Given the description of an element on the screen output the (x, y) to click on. 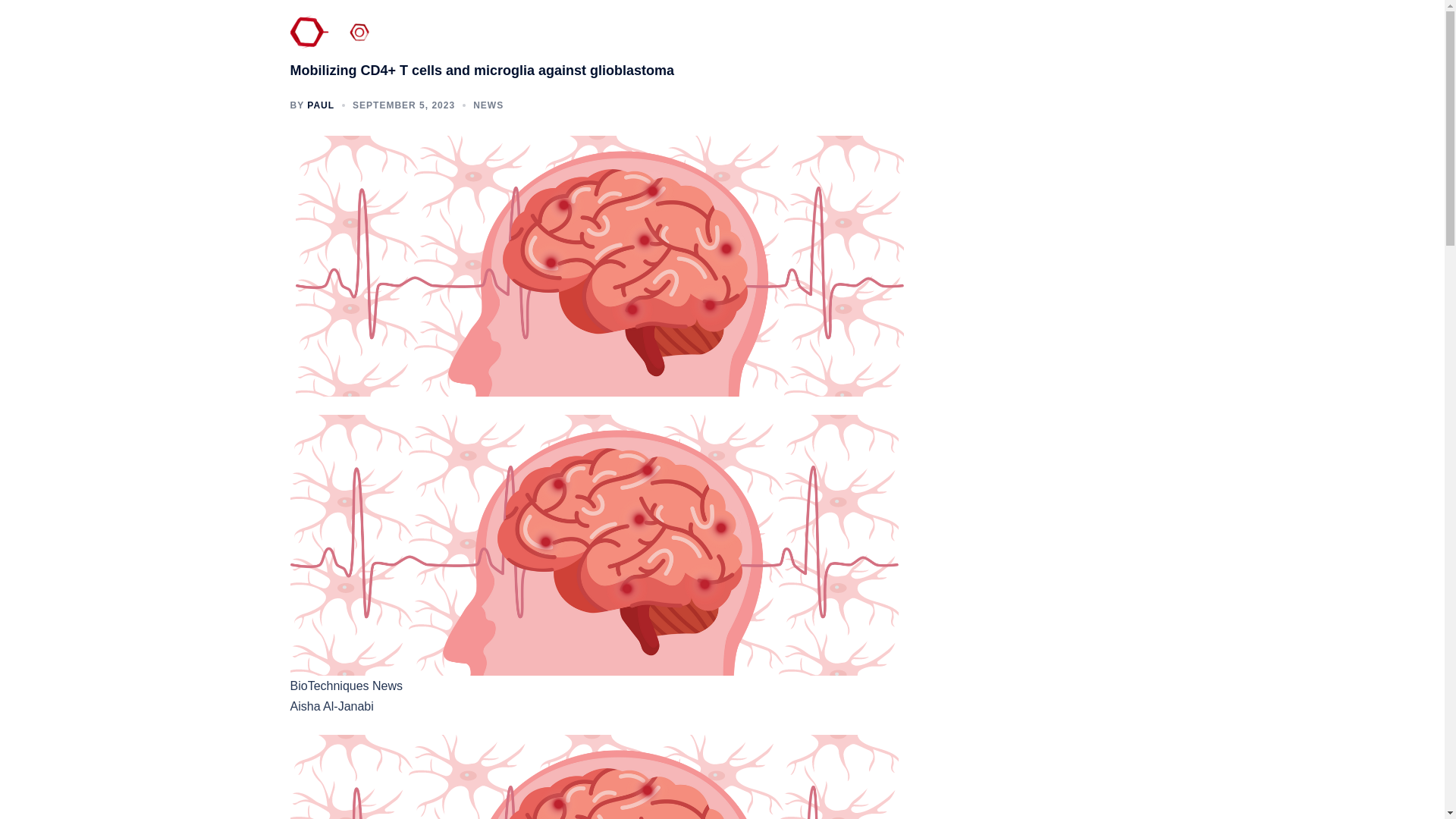
About (820, 37)
Products (932, 37)
V-Biognostics (399, 36)
GERBU (994, 37)
Contact (872, 37)
